Given the description of an element on the screen output the (x, y) to click on. 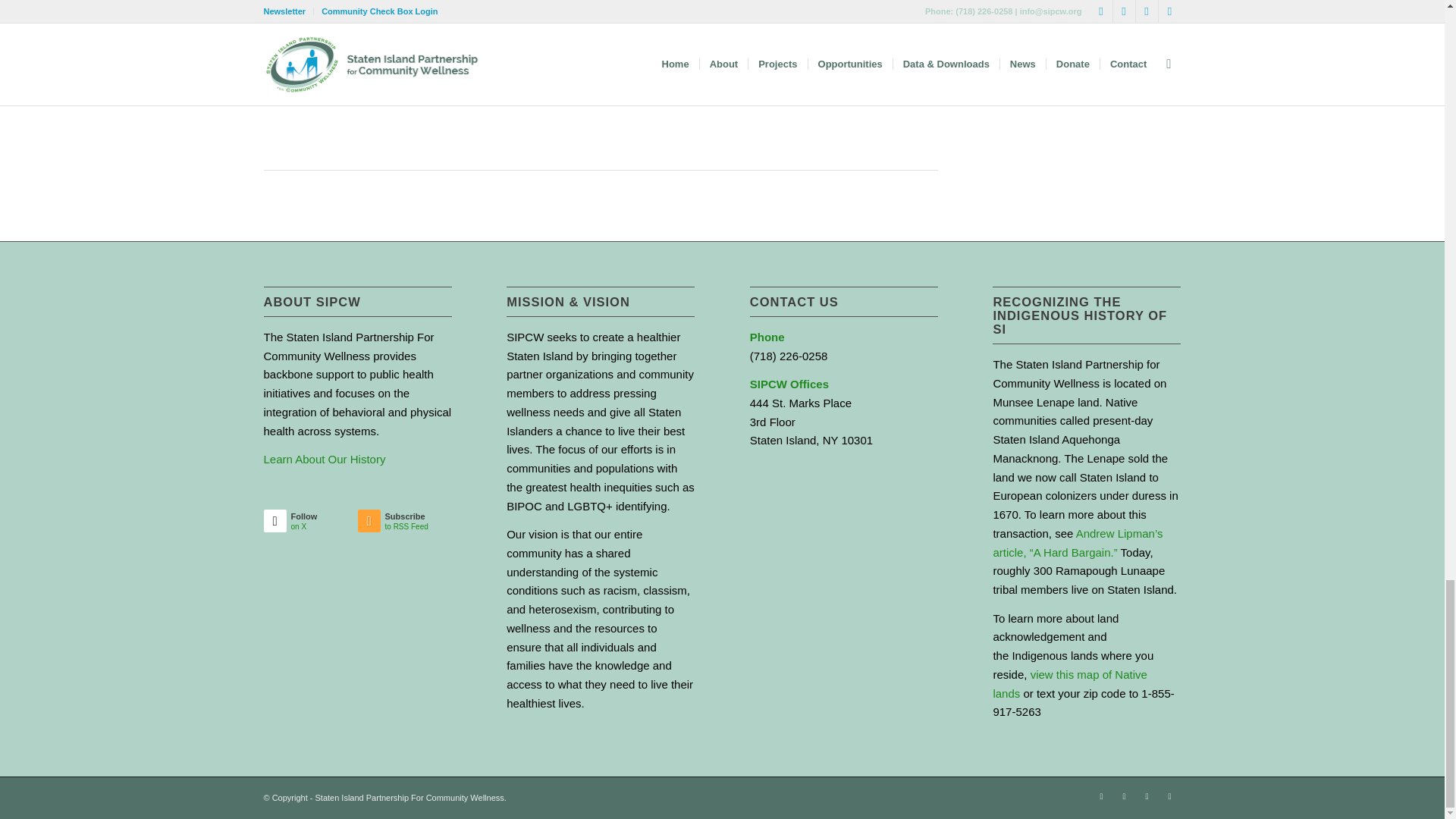
X (1101, 795)
Facebook (1124, 795)
